Given the description of an element on the screen output the (x, y) to click on. 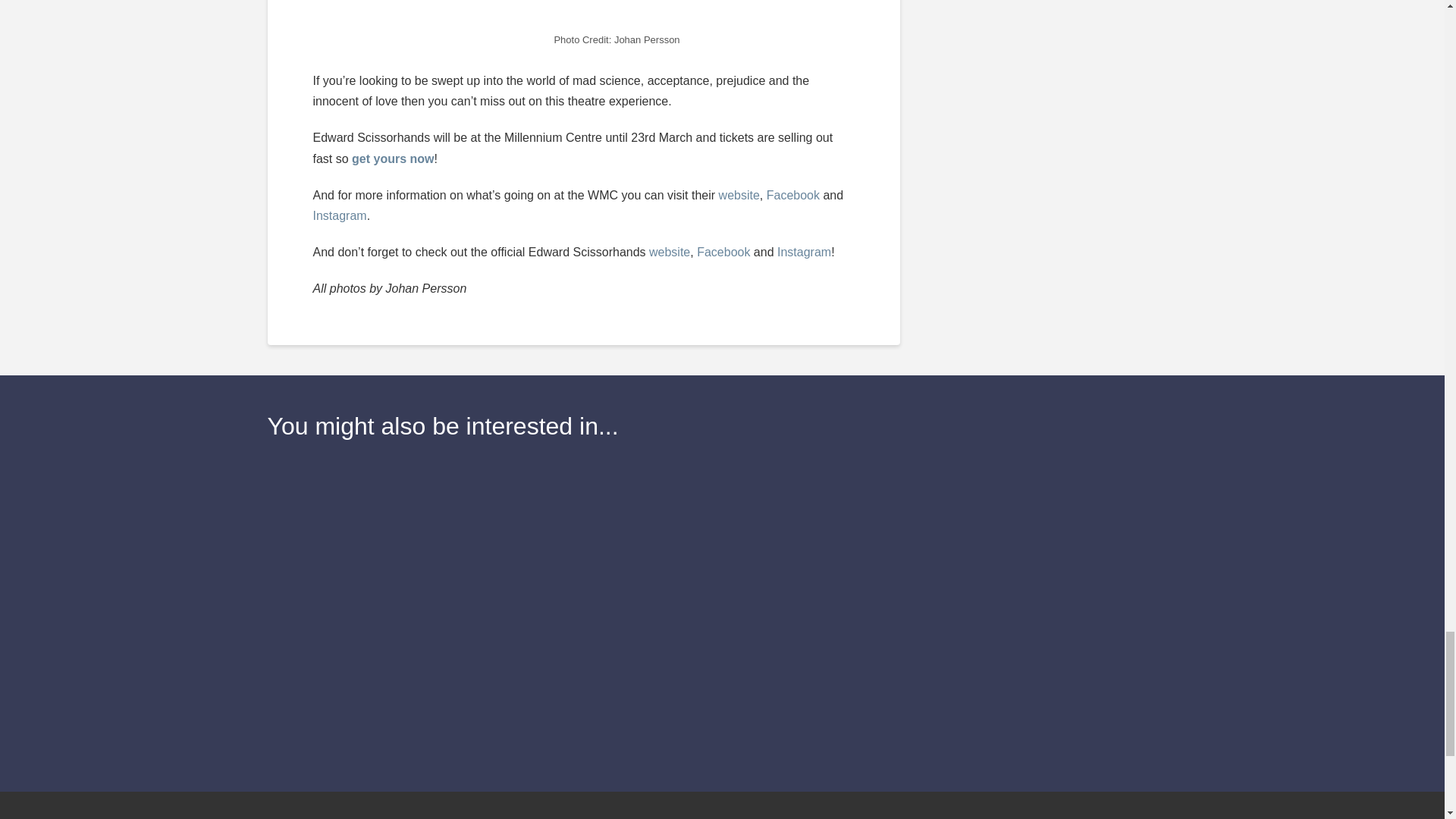
website (739, 195)
get yours now (392, 158)
Instagram (804, 251)
Facebook (723, 251)
Instagram (339, 215)
Facebook (793, 195)
website (669, 251)
